Given the description of an element on the screen output the (x, y) to click on. 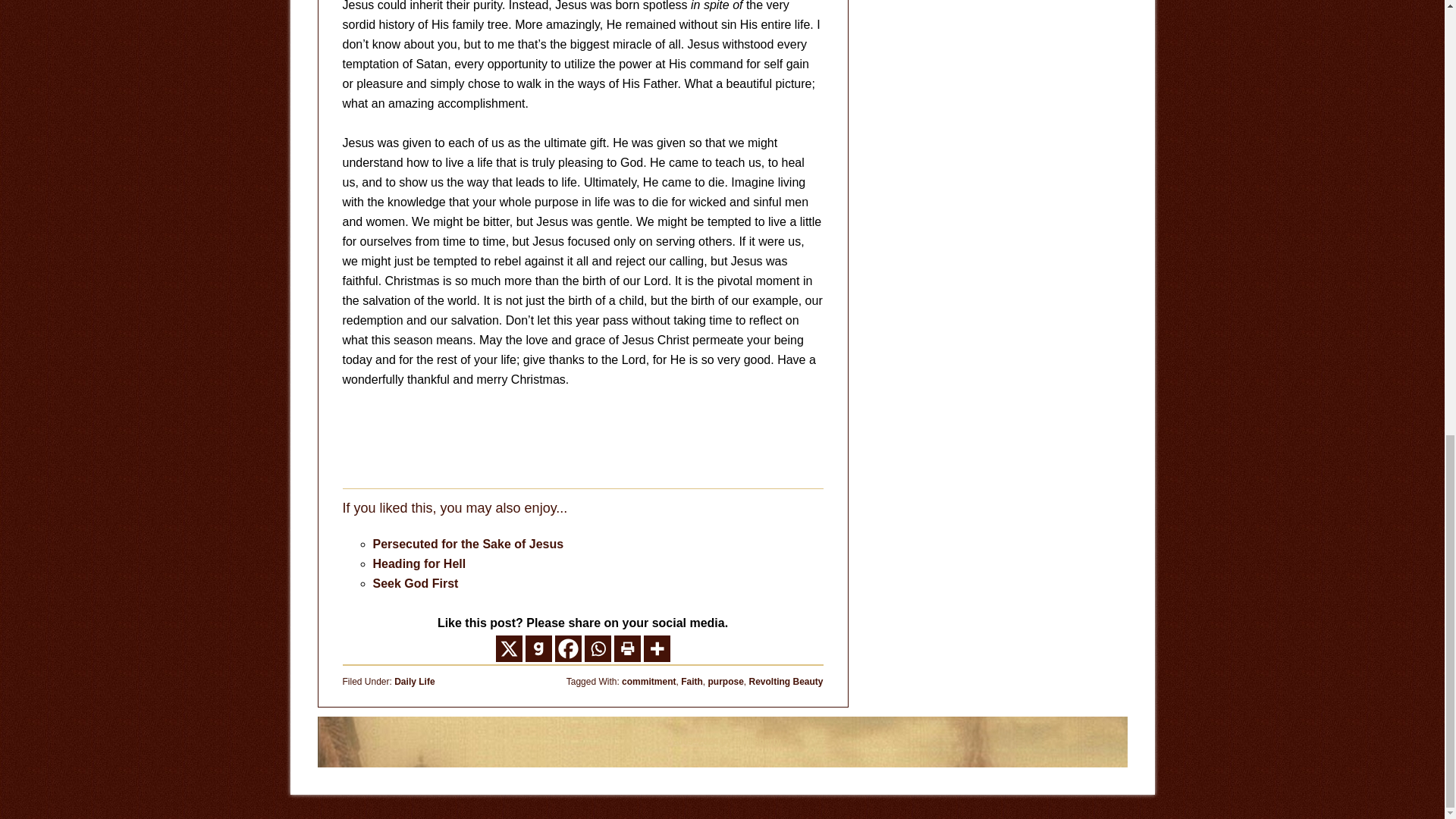
Whatsapp (596, 648)
Persecuted for the Sake of Jesus (468, 543)
Revolting Beauty (785, 681)
Faith (692, 681)
X (509, 648)
Persecuted for the Sake of Jesus (468, 543)
More (656, 648)
purpose (724, 681)
commitment (648, 681)
Gab (537, 648)
Heading for Hell (418, 563)
Seek God First (415, 583)
Seek God First (415, 583)
Print (627, 648)
Facebook (567, 648)
